Given the description of an element on the screen output the (x, y) to click on. 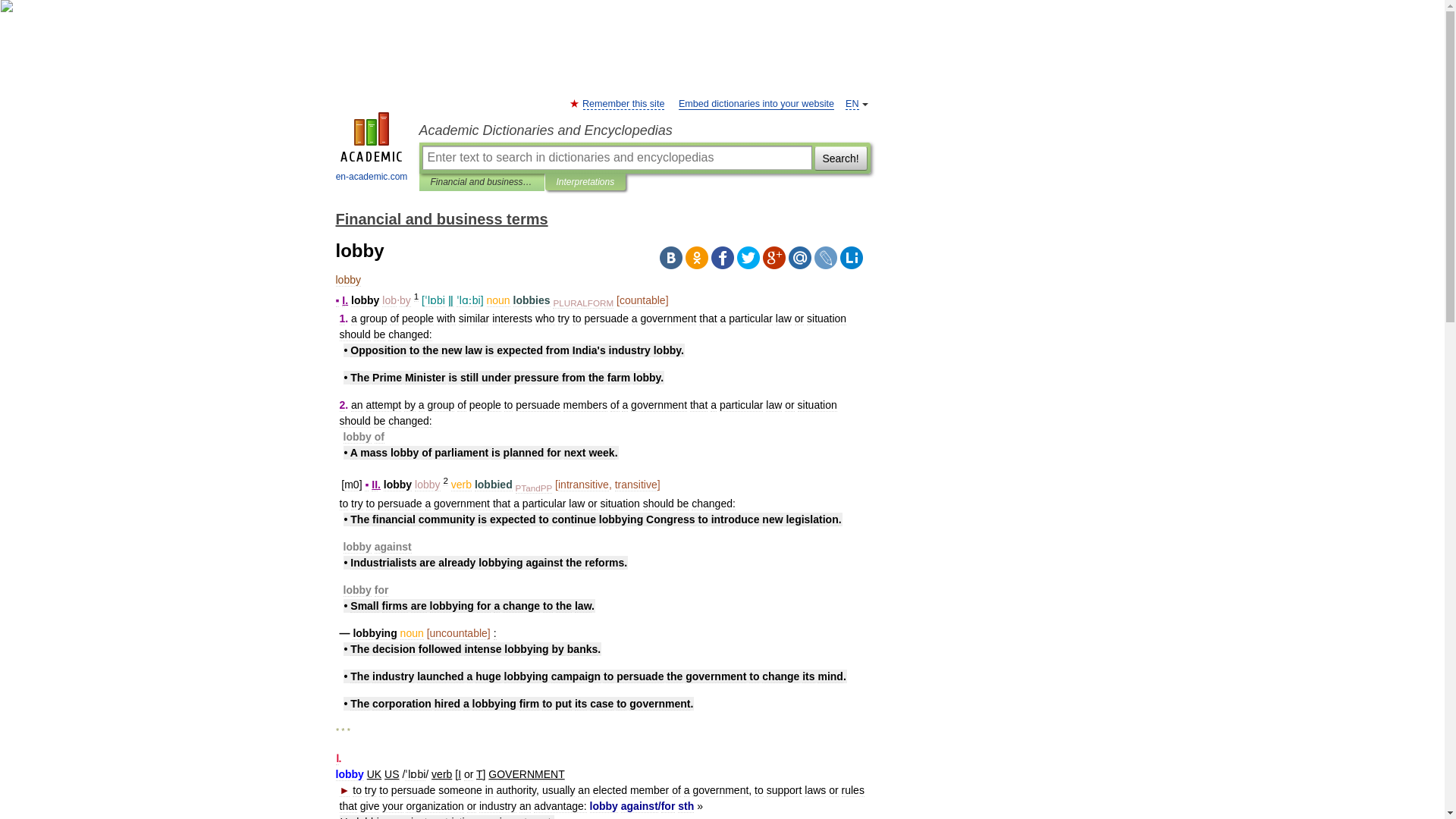
Financial and business terms (440, 218)
Embed dictionaries into your website (756, 103)
EN (852, 103)
Search! (840, 157)
Interpretations (585, 181)
en-academic.com (371, 148)
Enter text to search in dictionaries and encyclopedias (616, 157)
Remember this site (623, 103)
Financial and business terms (481, 181)
Academic Dictionaries and Encyclopedias (644, 130)
